Given the description of an element on the screen output the (x, y) to click on. 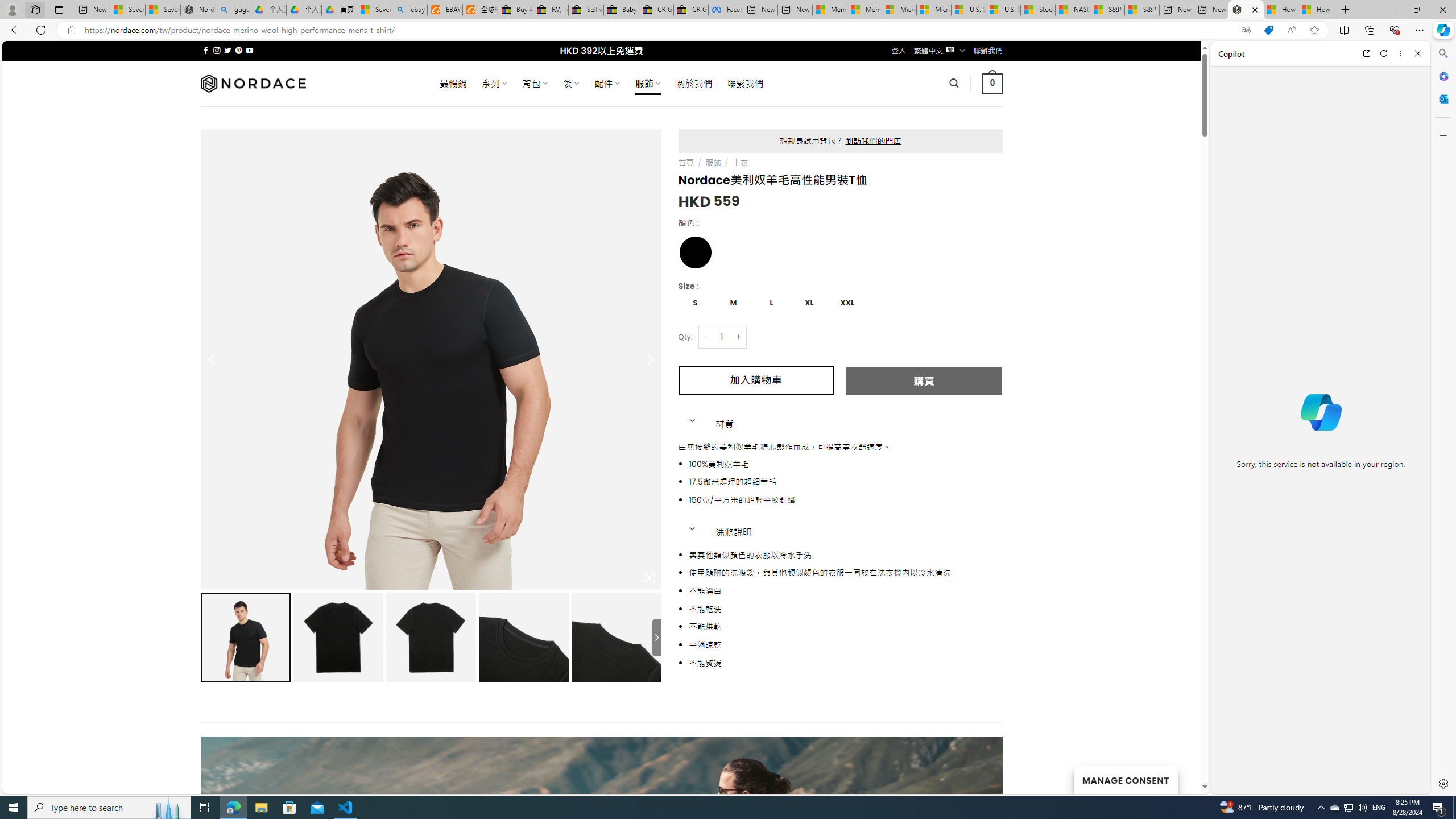
Facebook (725, 9)
How to Use a Monitor With Your Closed Laptop (1315, 9)
Open link in new tab (1366, 53)
Outlook (1442, 98)
Follow on Facebook (205, 50)
